Given the description of an element on the screen output the (x, y) to click on. 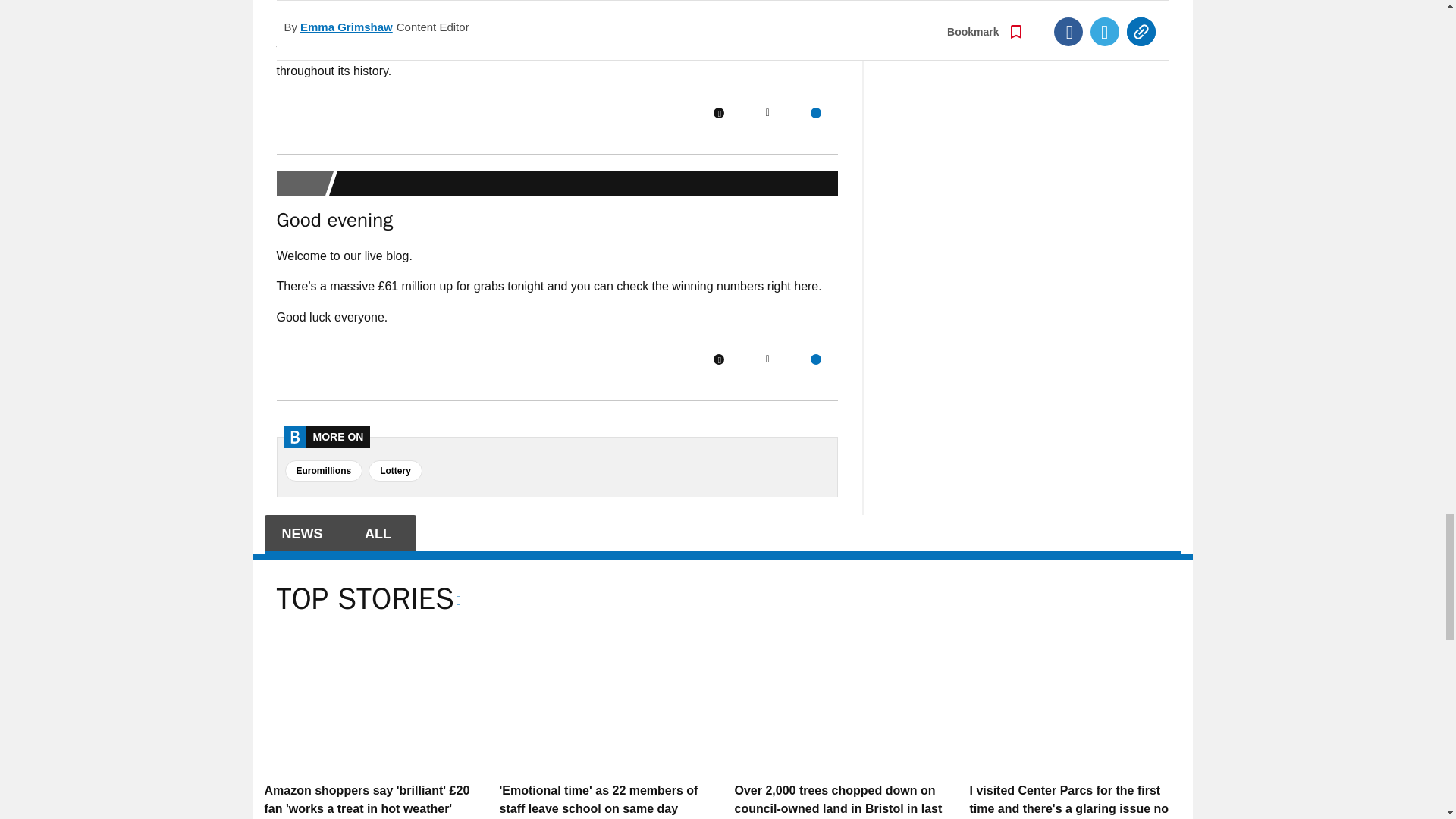
Twitter (767, 358)
Twitter (767, 112)
Facebook (718, 358)
Facebook (718, 112)
